Given the description of an element on the screen output the (x, y) to click on. 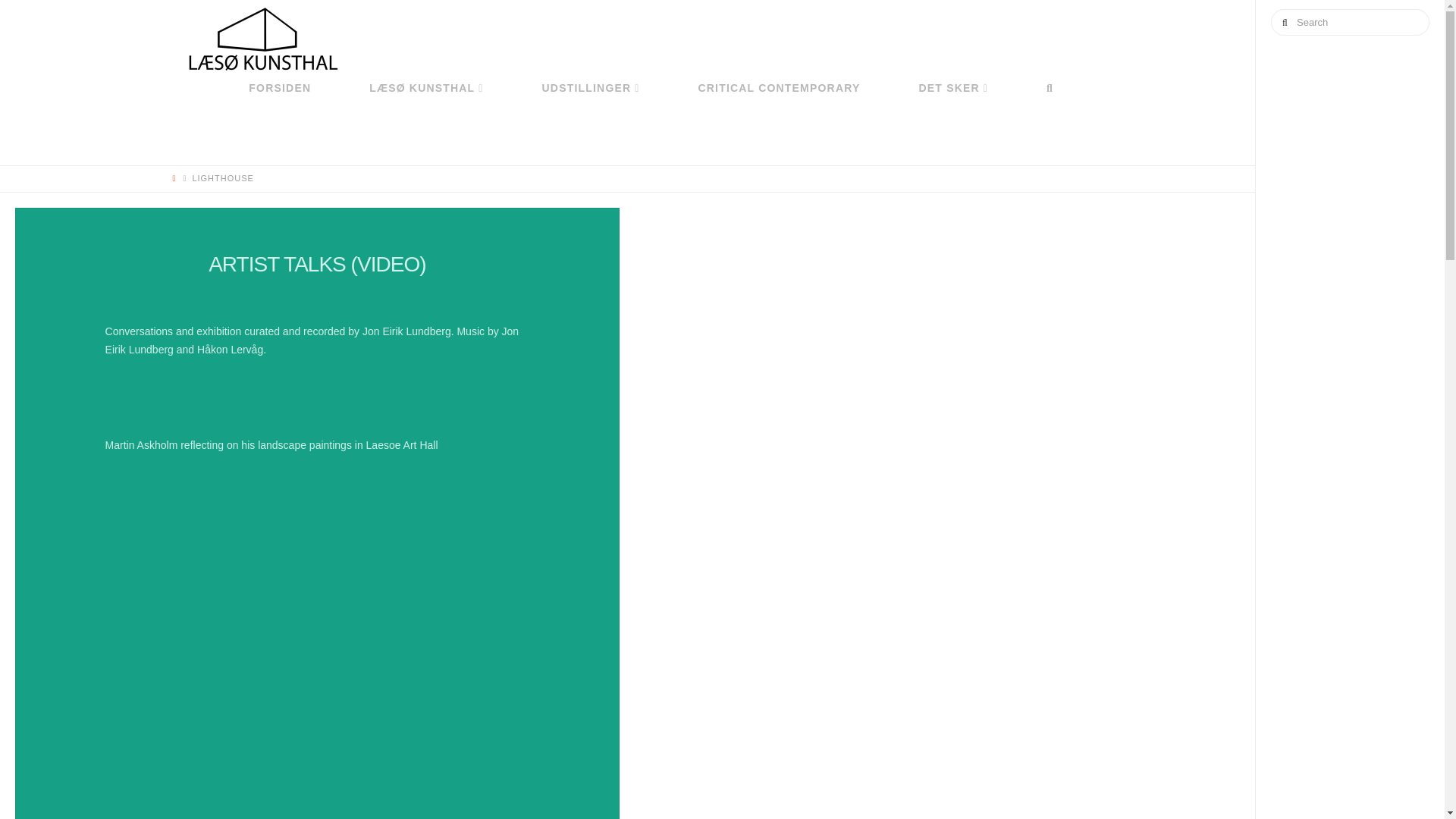
CRITICAL CONTEMPORARY (778, 123)
FORSIDEN (279, 123)
DET SKER (953, 123)
Aktuelle udstillinger (590, 123)
UDSTILLINGER (590, 123)
